Given the description of an element on the screen output the (x, y) to click on. 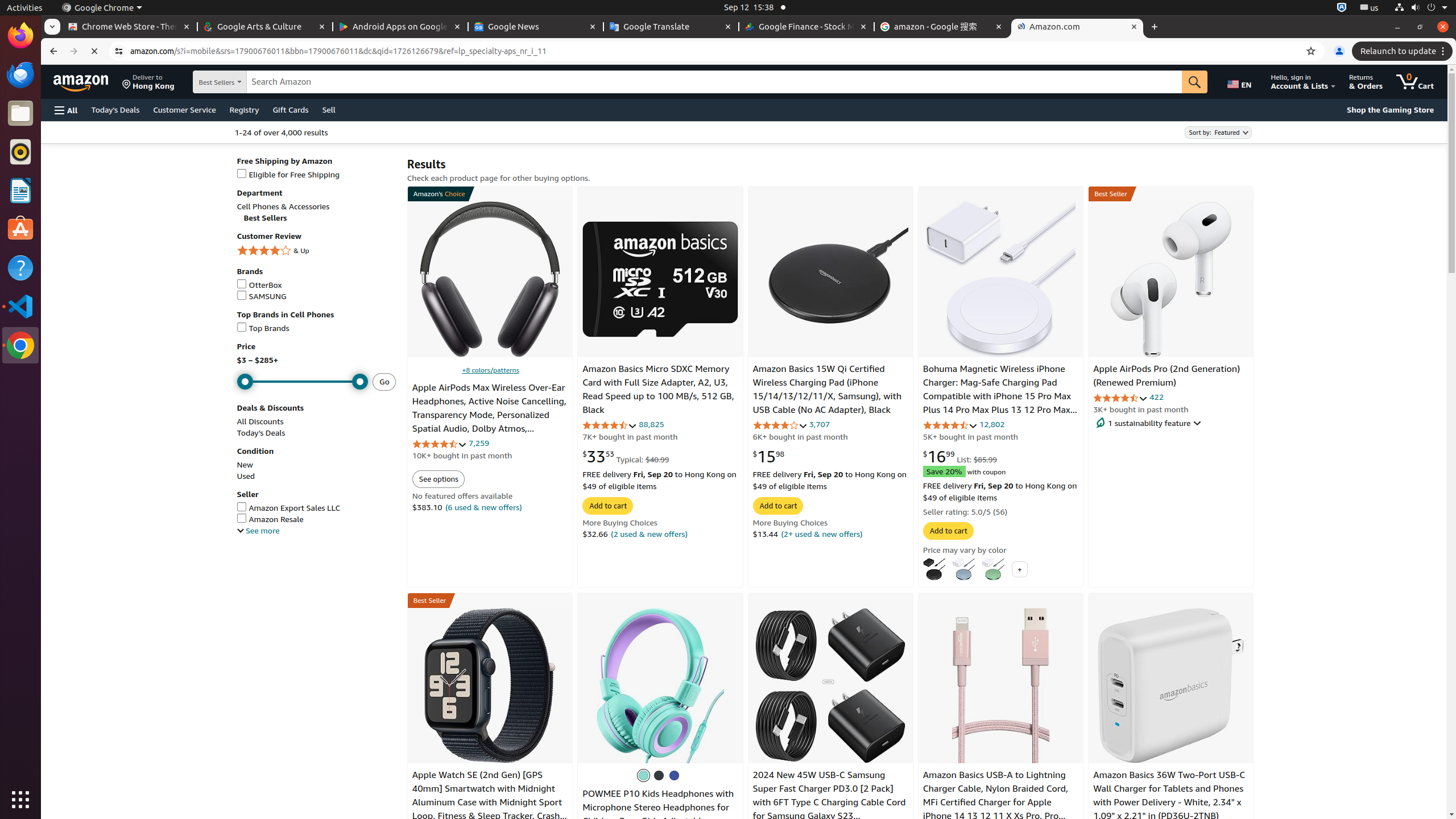
Amazon Basics 15W Qi Certified Wireless Charging Pad (iPhone 15/14/13/12/11/X, Samsung), with USB Cable (No AC Adapter), B... Element type: link (830, 279)
2024 New 45W USB-C Samsung Super Fast Charger PD3.0 [2 Pack] with 6FT Type C Charging Cable Cord for Samsung Galaxy S23 Ul... Element type: link (830, 685)
422 Element type: link (1156, 396)
Visual Studio Code Element type: push-button (20, 306)
Amazon's Choice Element type: link (437, 194)
